Given the description of an element on the screen output the (x, y) to click on. 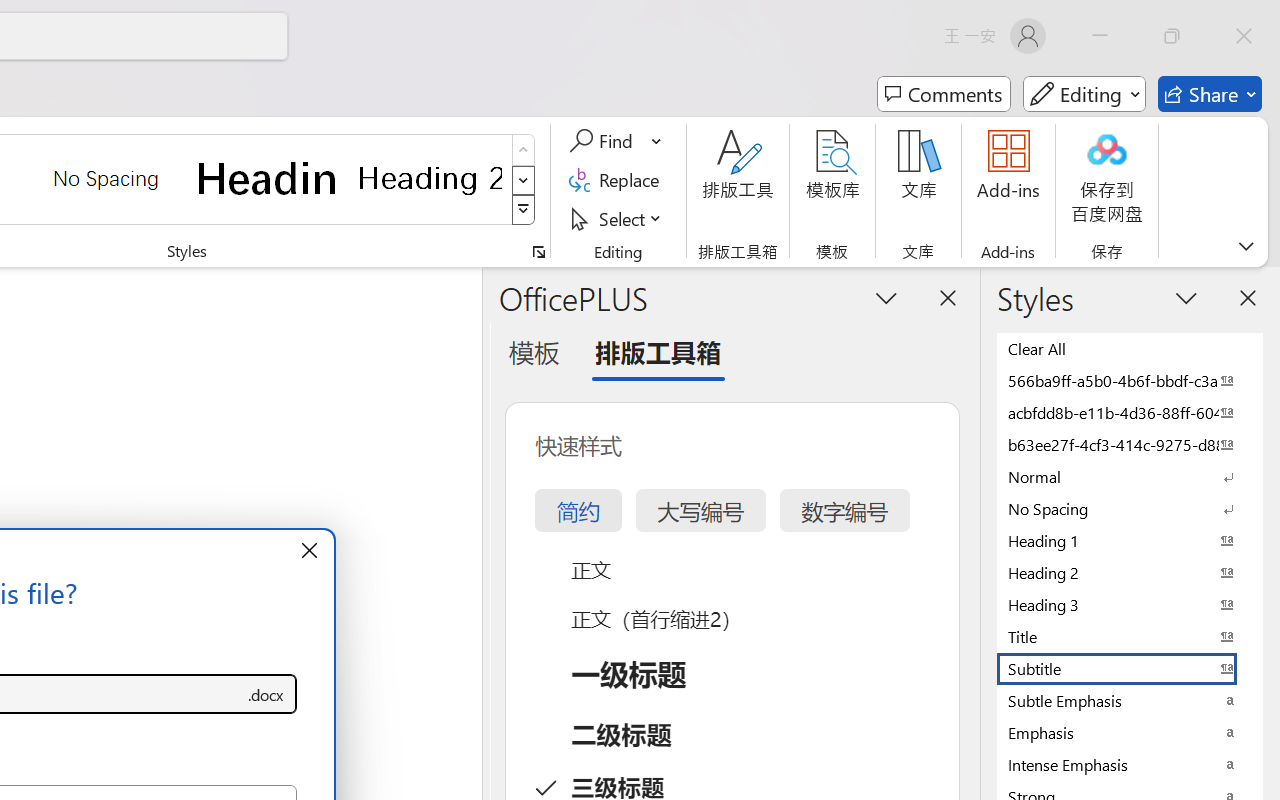
Heading 3 (1130, 604)
Find (604, 141)
Find (616, 141)
Row up (523, 150)
Minimize (1099, 36)
Save as type (265, 694)
Subtle Emphasis (1130, 700)
b63ee27f-4cf3-414c-9275-d88e3f90795e (1130, 444)
Subtitle (1130, 668)
Normal (1130, 476)
No Spacing (1130, 508)
Comments (943, 94)
